Given the description of an element on the screen output the (x, y) to click on. 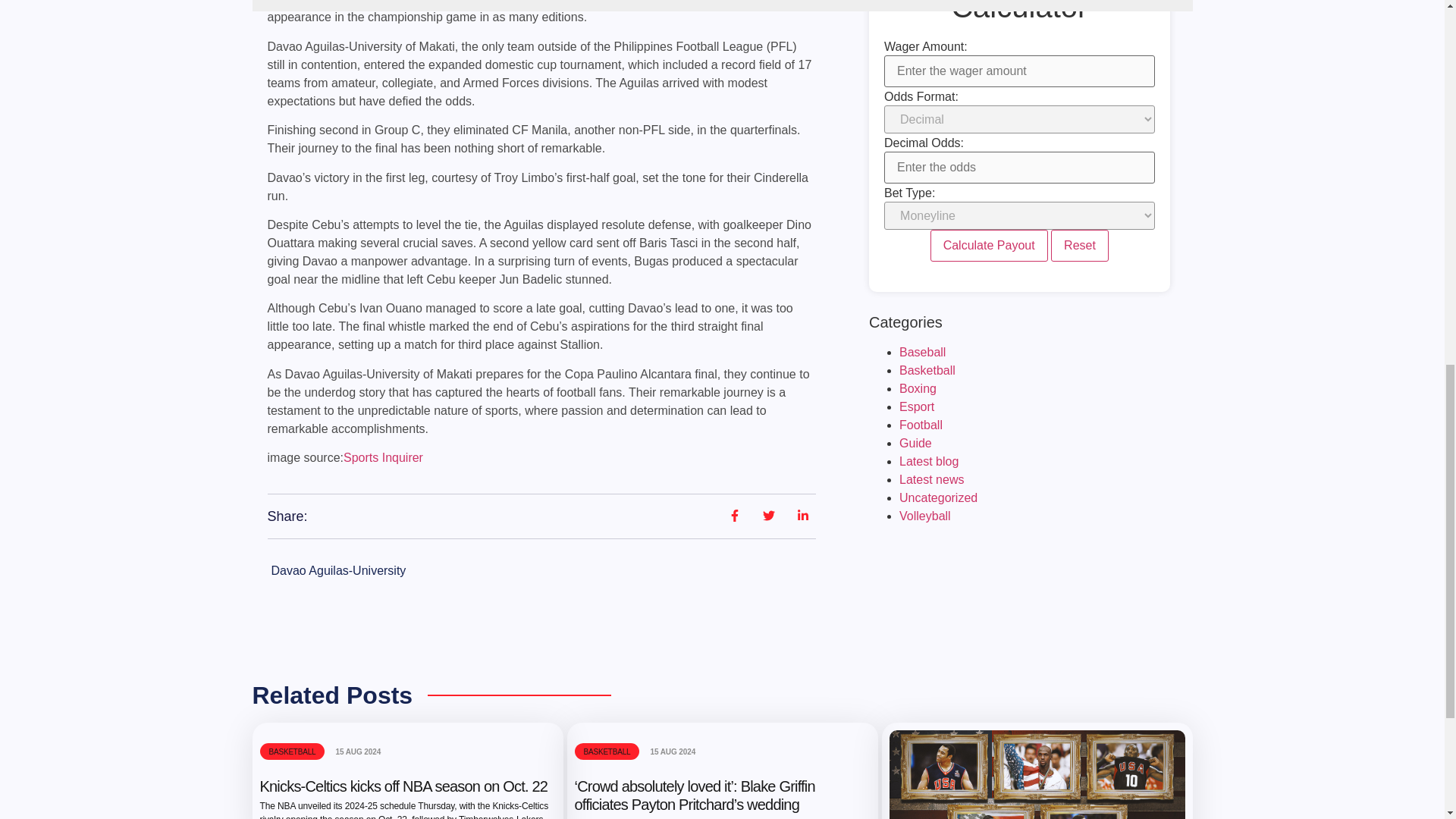
Sports Inquirer (383, 457)
Basketball (927, 369)
Volleyball (924, 515)
Davao Aguilas-University (338, 570)
Boxing (917, 388)
Latest blog (928, 461)
Reset (1079, 245)
Uncategorized (937, 497)
Latest news (931, 479)
Football (920, 424)
